Given the description of an element on the screen output the (x, y) to click on. 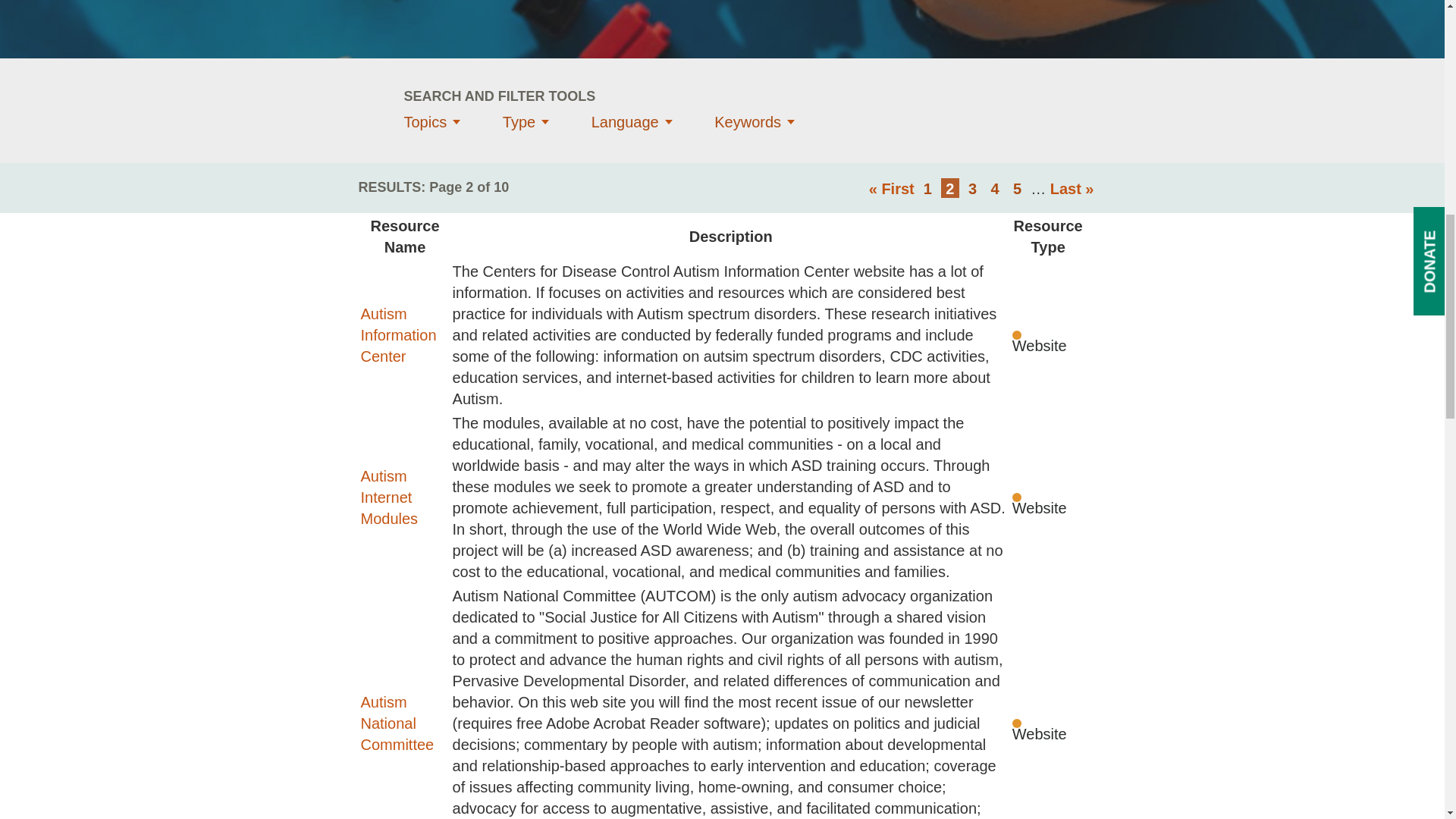
Autism Information Center (398, 334)
Go to first page (891, 188)
Go to page 1 (927, 188)
Website (1039, 334)
Type (525, 121)
Go to page 3 (971, 188)
Go to page 4 (994, 188)
Current page (949, 188)
Go to page 5 (949, 188)
